Given the description of an element on the screen output the (x, y) to click on. 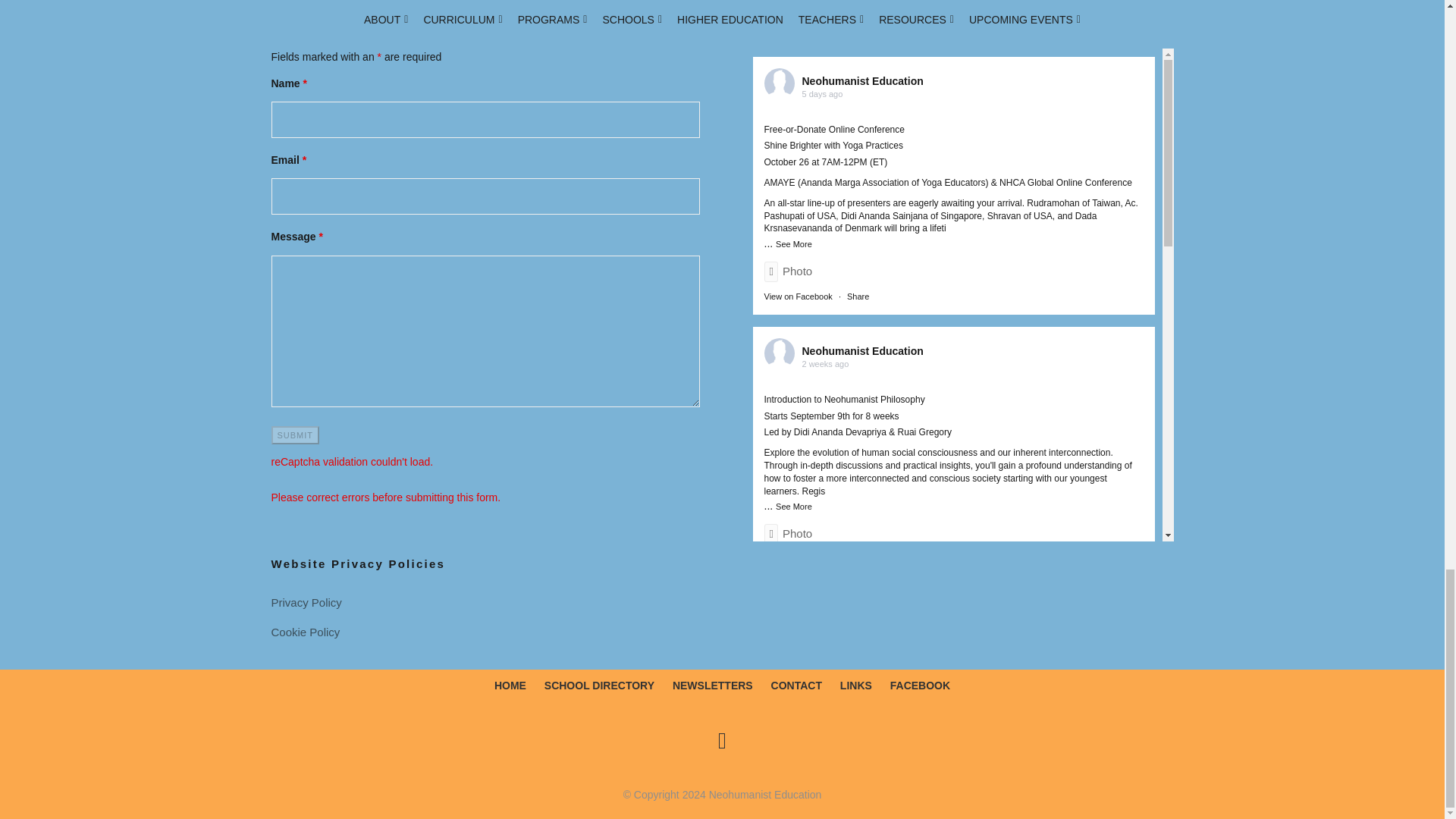
Submit (295, 434)
Share (858, 296)
Share (858, 558)
Share (858, 771)
View on Facebook (798, 296)
View on Facebook (798, 771)
View on Facebook (798, 558)
